Given the description of an element on the screen output the (x, y) to click on. 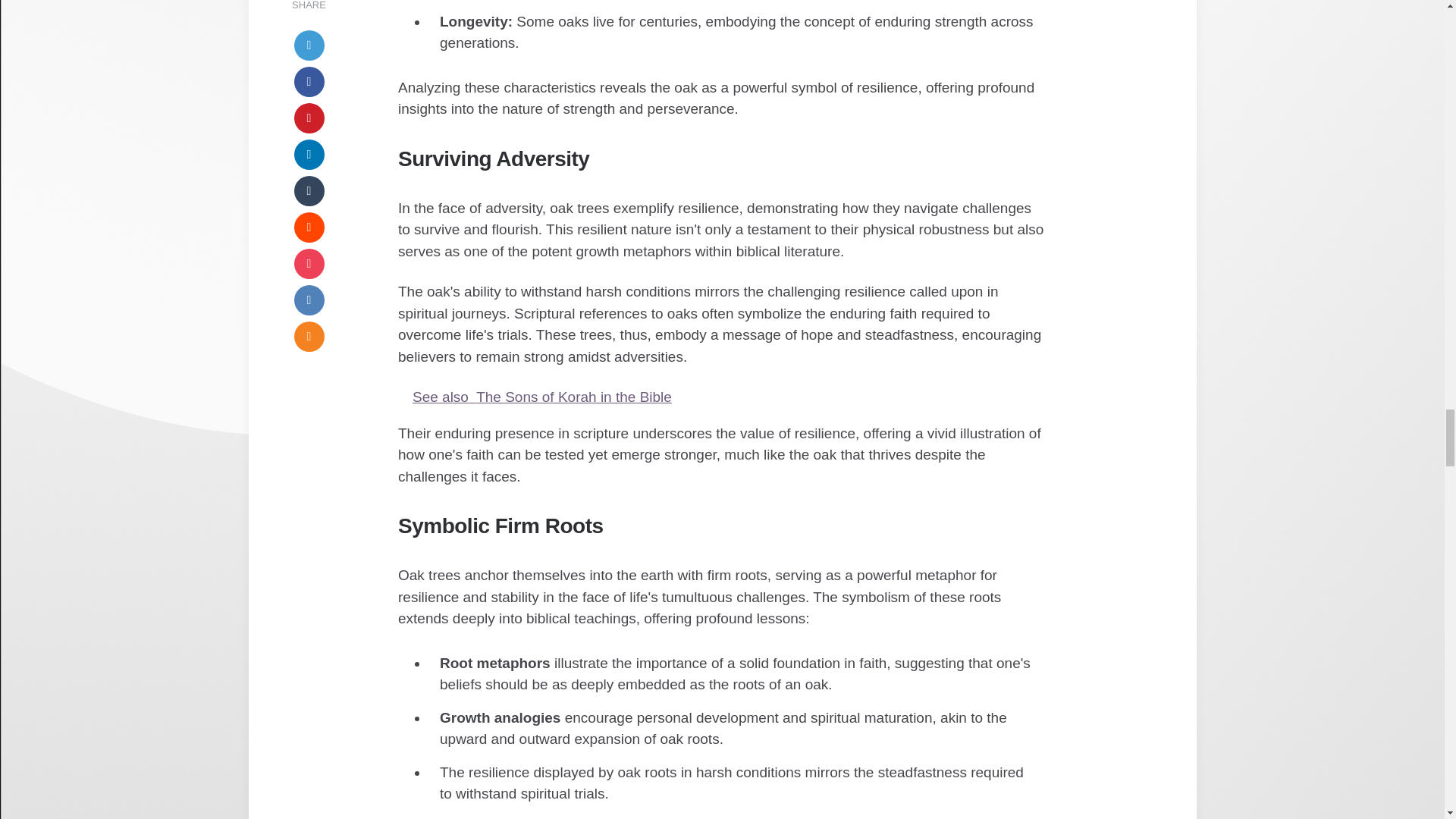
See also  The Sons of Korah in the Bible (721, 397)
